Given the description of an element on the screen output the (x, y) to click on. 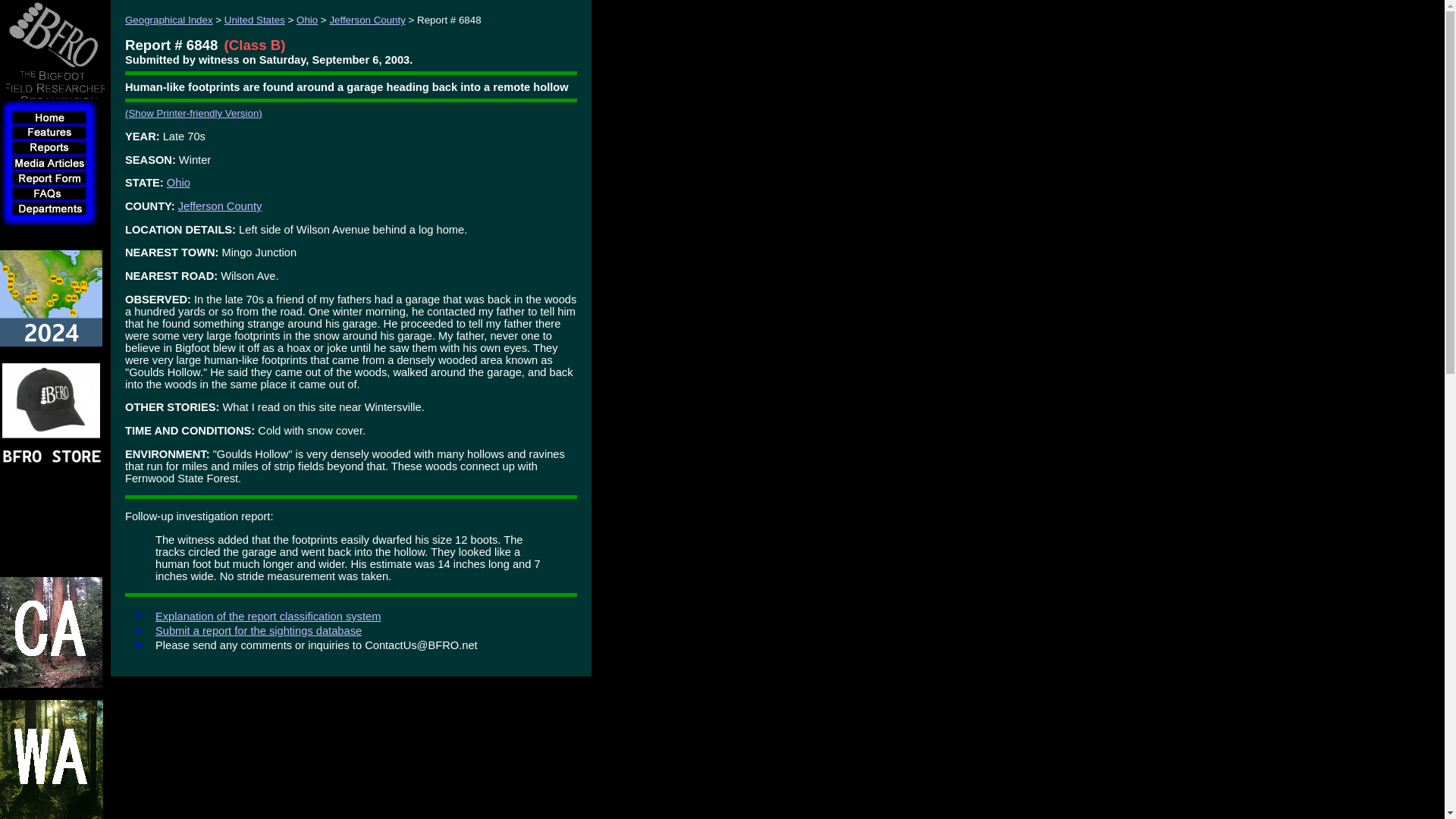
Jefferson County (219, 205)
Jefferson County (367, 19)
Ohio (307, 19)
Explanation of the report classification system (267, 616)
Ohio (178, 182)
United States (254, 19)
Submit a report for the sightings database (258, 630)
Geographical Index (168, 19)
